Given the description of an element on the screen output the (x, y) to click on. 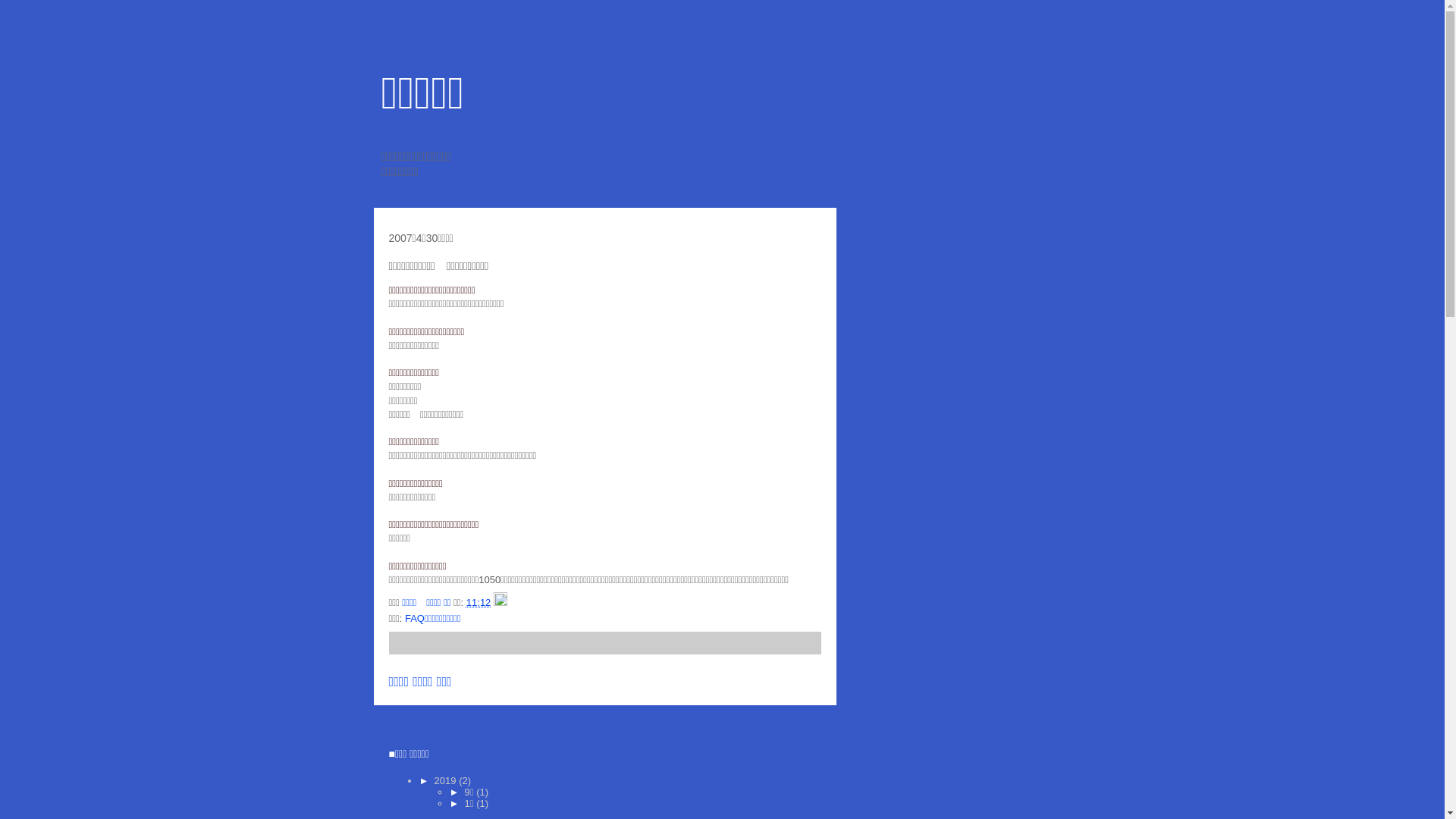
11:12 Element type: text (478, 602)
2019 Element type: text (446, 780)
